Given the description of an element on the screen output the (x, y) to click on. 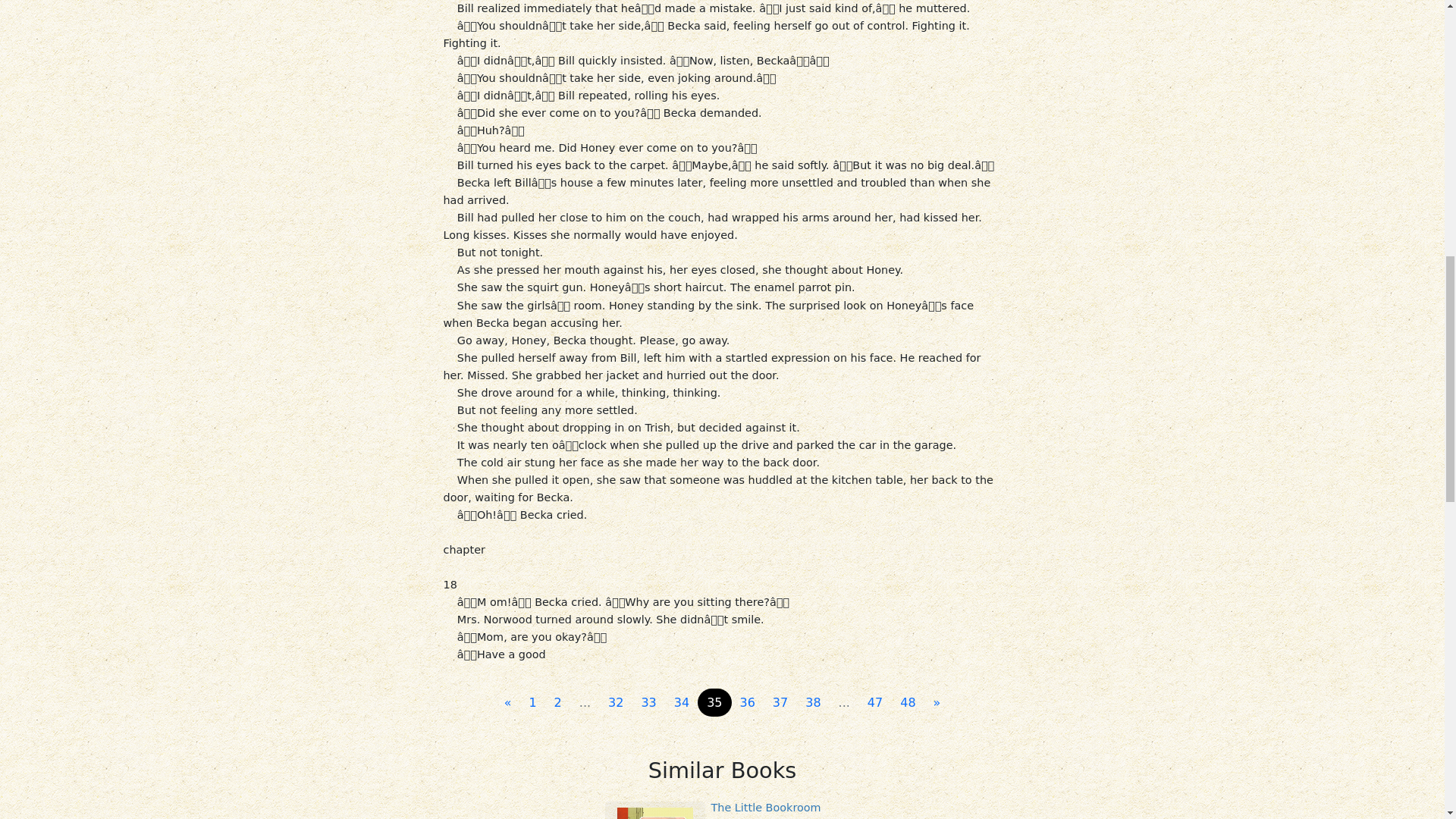
35 (713, 702)
36 (747, 702)
33 (648, 702)
34 (681, 702)
2 (557, 702)
32 (614, 702)
... (584, 702)
47 (875, 702)
... (844, 702)
48 (907, 702)
1 (531, 702)
38 (812, 702)
37 (779, 702)
